Given the description of an element on the screen output the (x, y) to click on. 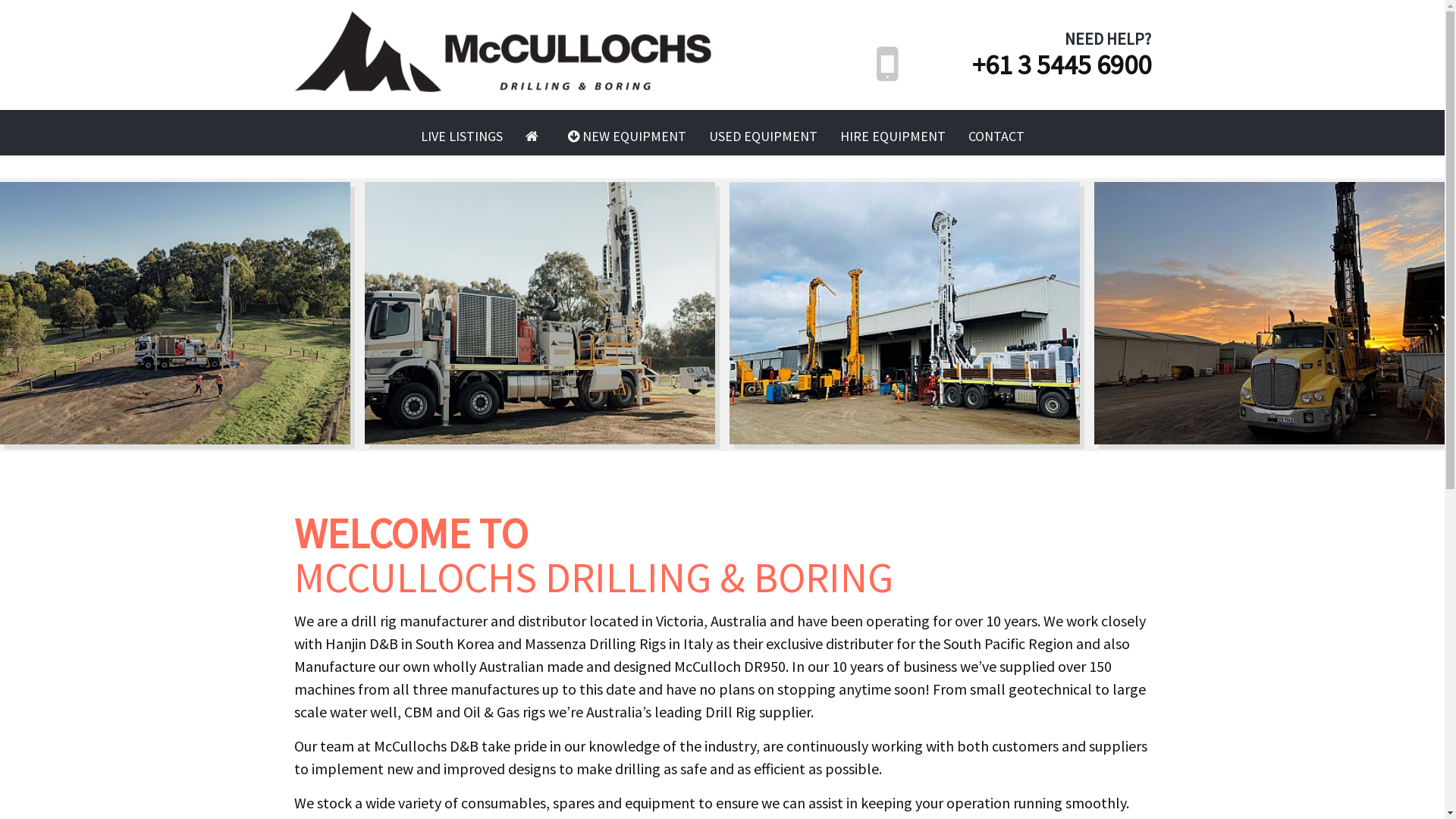
NEW EQUIPMENT Element type: text (626, 136)
LIVE LISTINGS Element type: text (461, 136)
+61 3 5445 6900 Element type: text (1061, 64)
USED EQUIPMENT Element type: text (762, 136)
CONTACT Element type: text (996, 136)
HIRE EQUIPMENT Element type: text (892, 136)
